Given the description of an element on the screen output the (x, y) to click on. 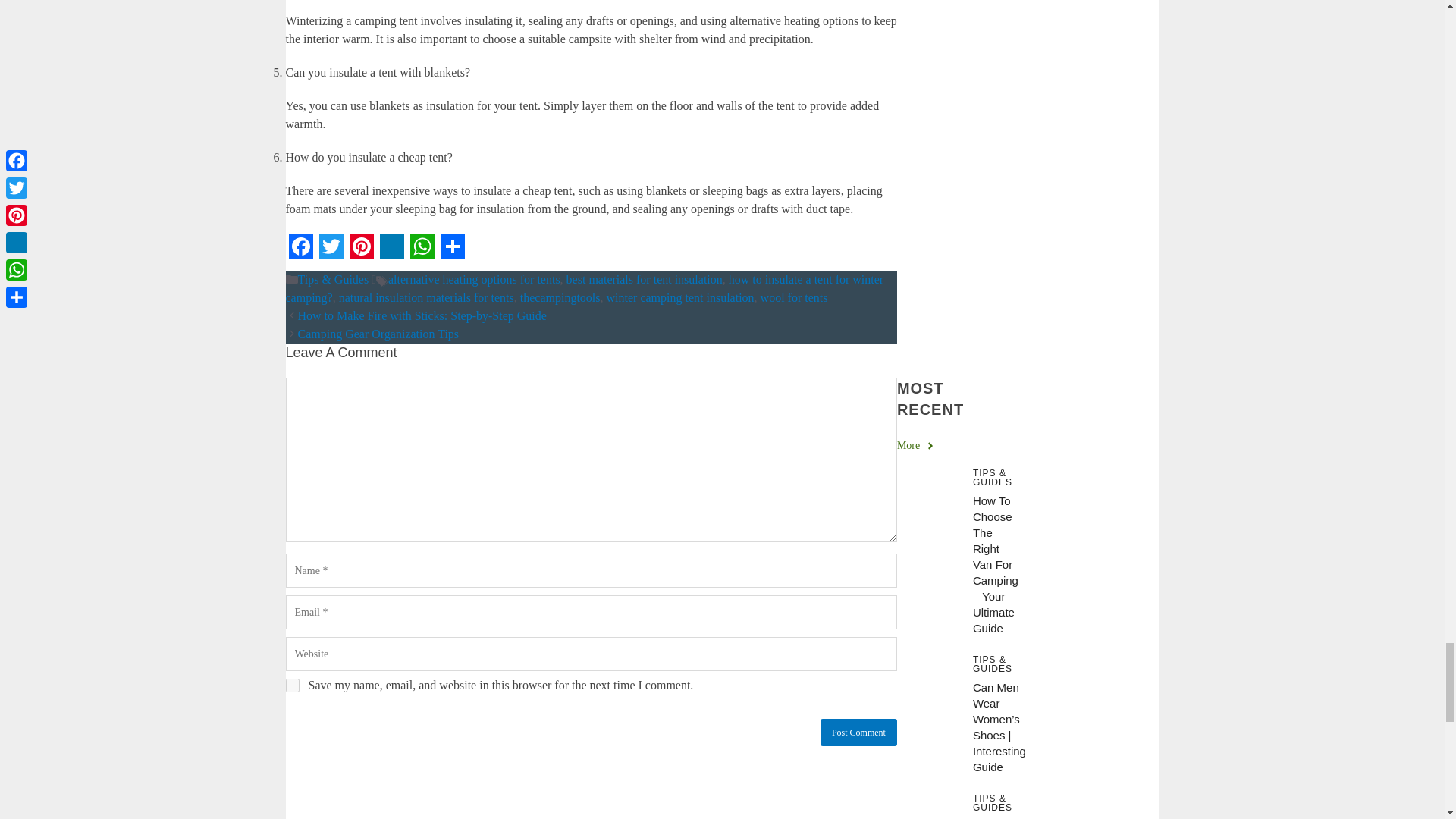
Pinterest (360, 246)
Post Comment (858, 732)
alternative heating options for tents (474, 278)
yes (291, 685)
Twitter (330, 246)
best materials for tent insulation (644, 278)
Facebook (300, 246)
LinkedIn (390, 246)
WhatsApp (421, 246)
how to insulate a tent for winter camping? (584, 287)
